Given the description of an element on the screen output the (x, y) to click on. 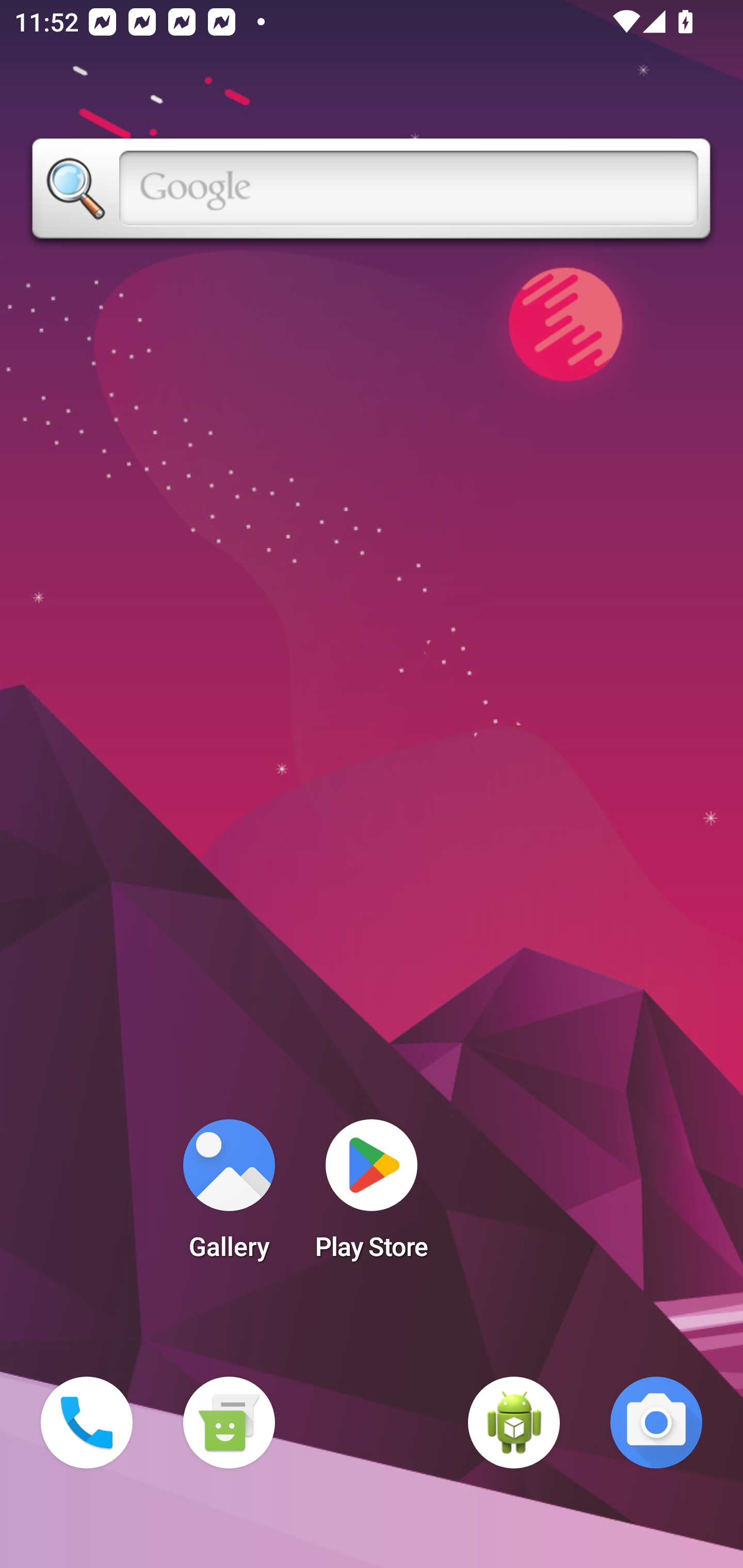
Gallery (228, 1195)
Play Store (371, 1195)
Phone (86, 1422)
Messaging (228, 1422)
WebView Browser Tester (513, 1422)
Camera (656, 1422)
